Given the description of an element on the screen output the (x, y) to click on. 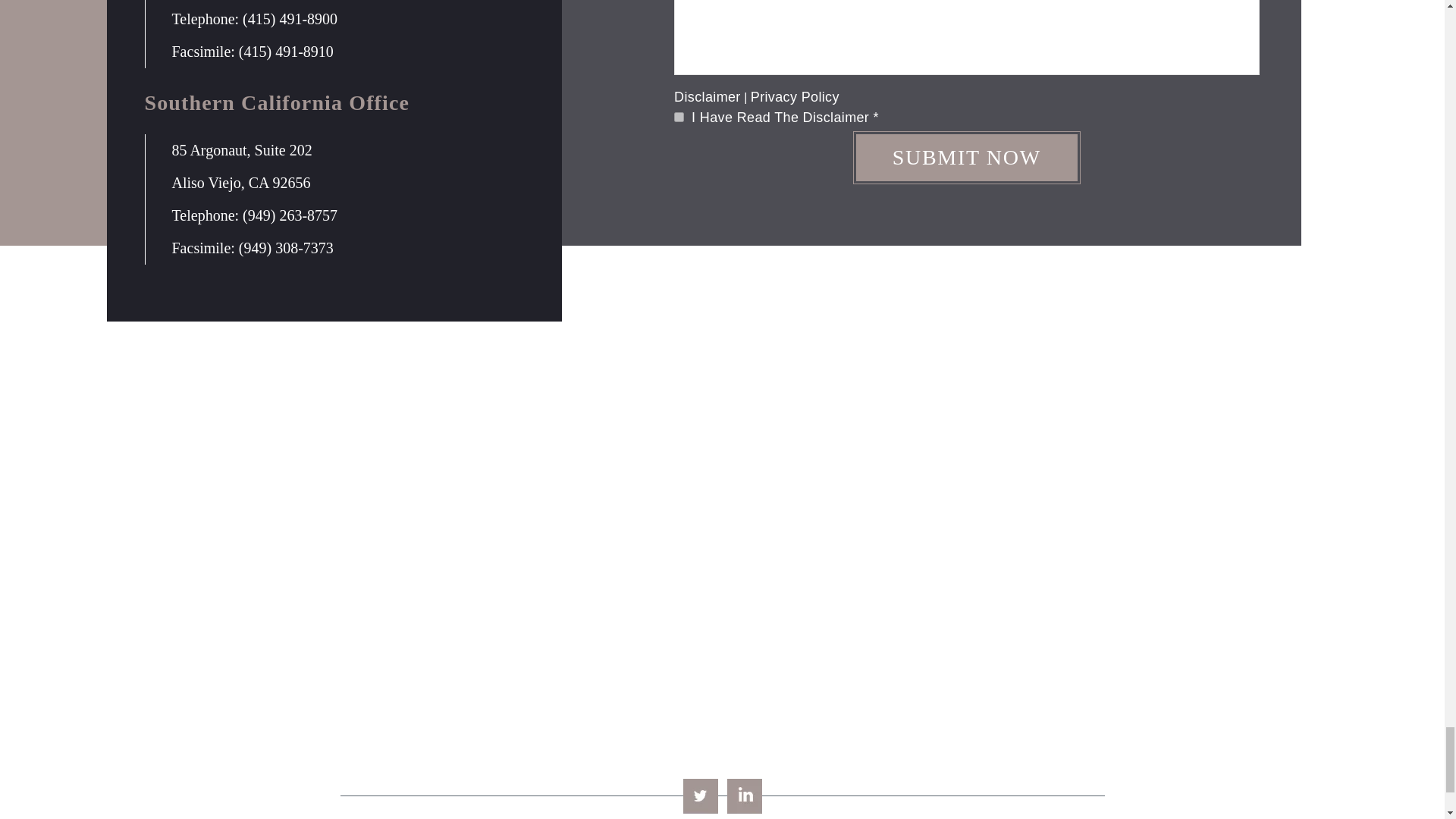
Submit Now (966, 157)
